Given the description of an element on the screen output the (x, y) to click on. 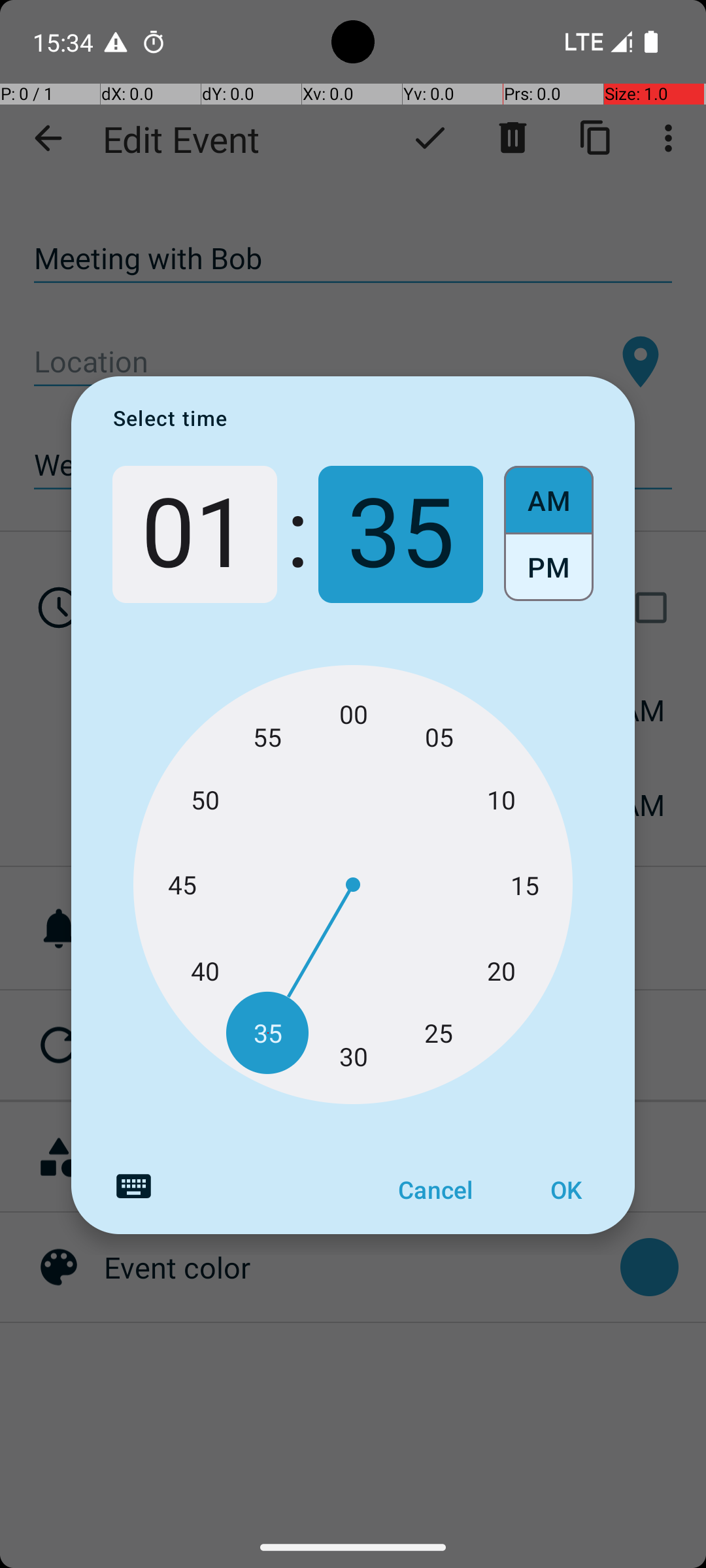
01 Element type: android.view.View (194, 534)
Select AM or PM Element type: android.widget.LinearLayout (548, 534)
